Given the description of an element on the screen output the (x, y) to click on. 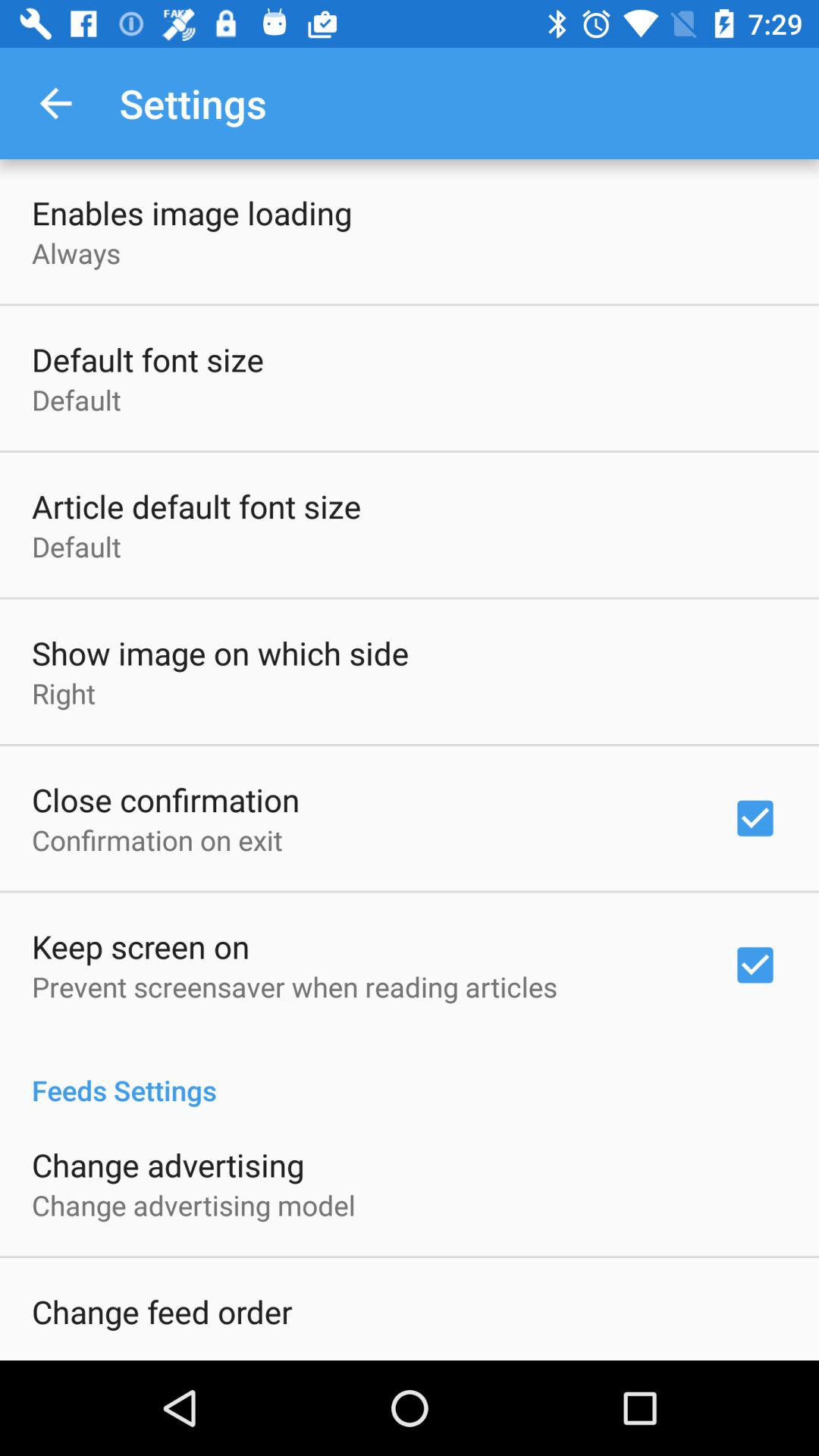
press item above the always (191, 212)
